Given the description of an element on the screen output the (x, y) to click on. 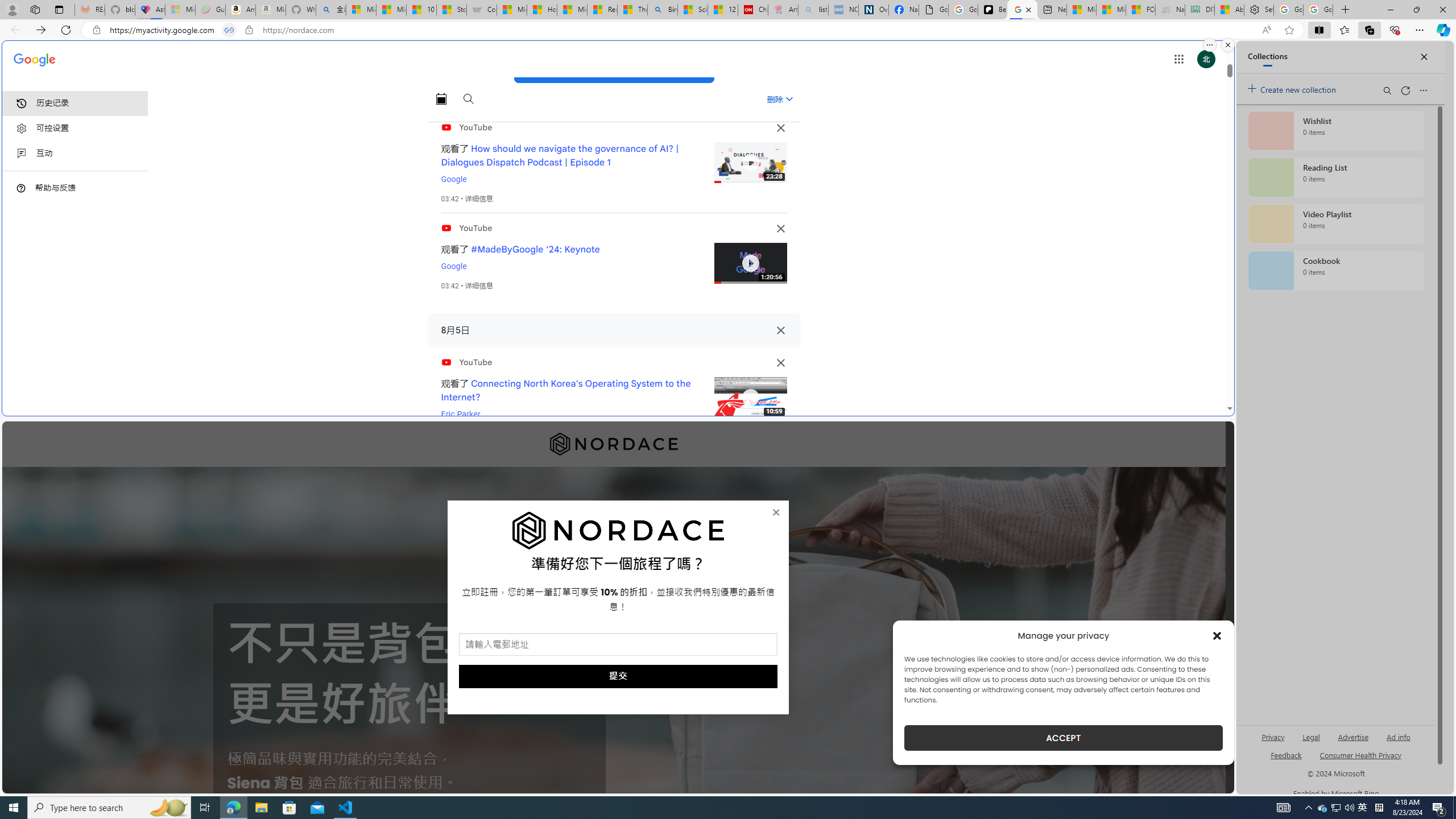
Nordace (613, 443)
Microsoft account | Privacy (360, 9)
AutomationID: genId96 (1285, 759)
Connecting North Korea's Operating System to the Internet? (566, 390)
Class: gb_E (1178, 59)
More options. (1209, 45)
AutomationID: field_5_1 (617, 645)
